Given the description of an element on the screen output the (x, y) to click on. 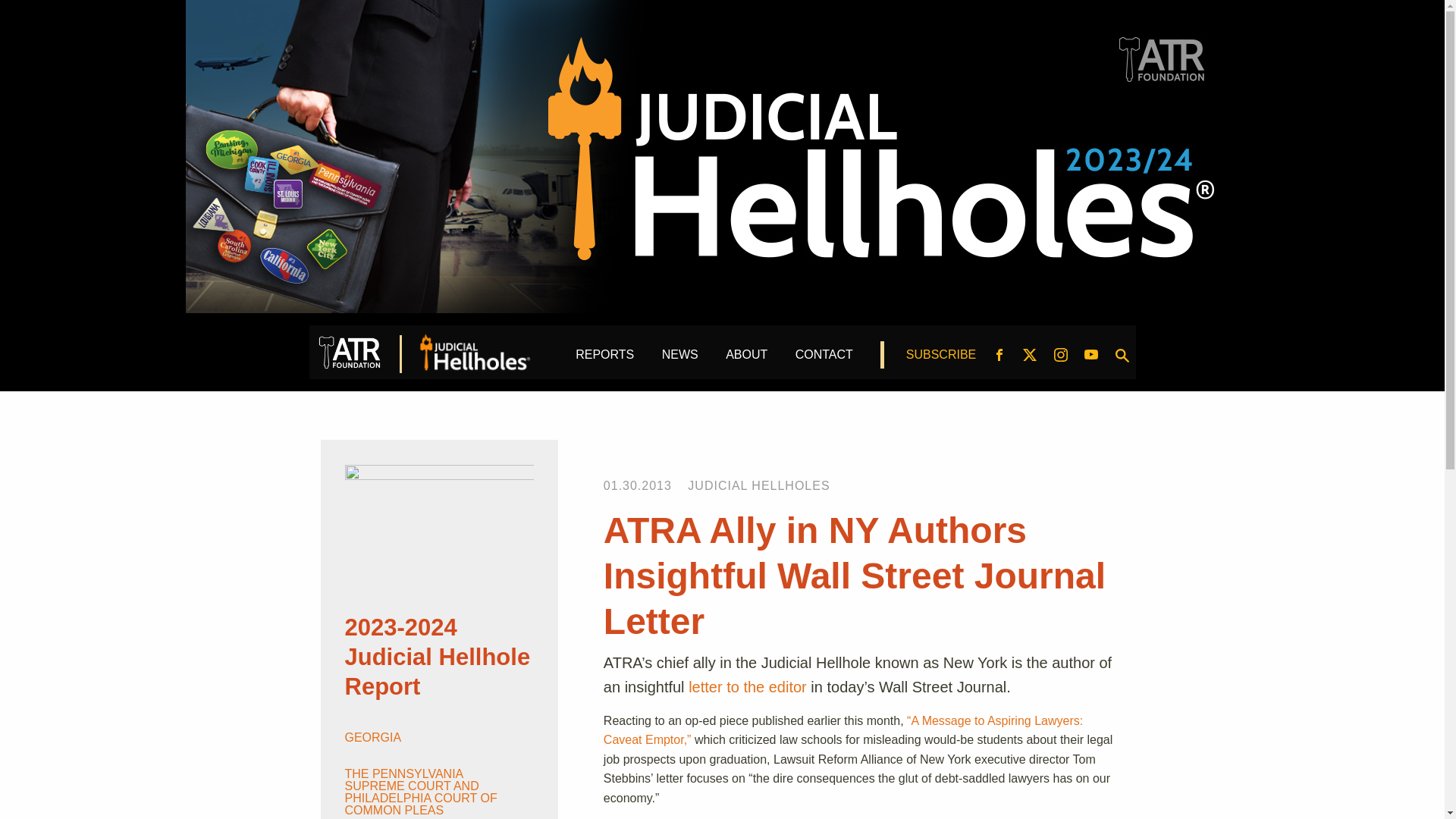
YOUTUBE (1091, 355)
INSTAGRAM (1060, 355)
REPORTS (604, 358)
NEWS (680, 358)
SUBSCRIBE (940, 358)
X (1029, 355)
GEORGIA (432, 737)
CONTACT (823, 358)
FACEBOOK (999, 355)
